Given the description of an element on the screen output the (x, y) to click on. 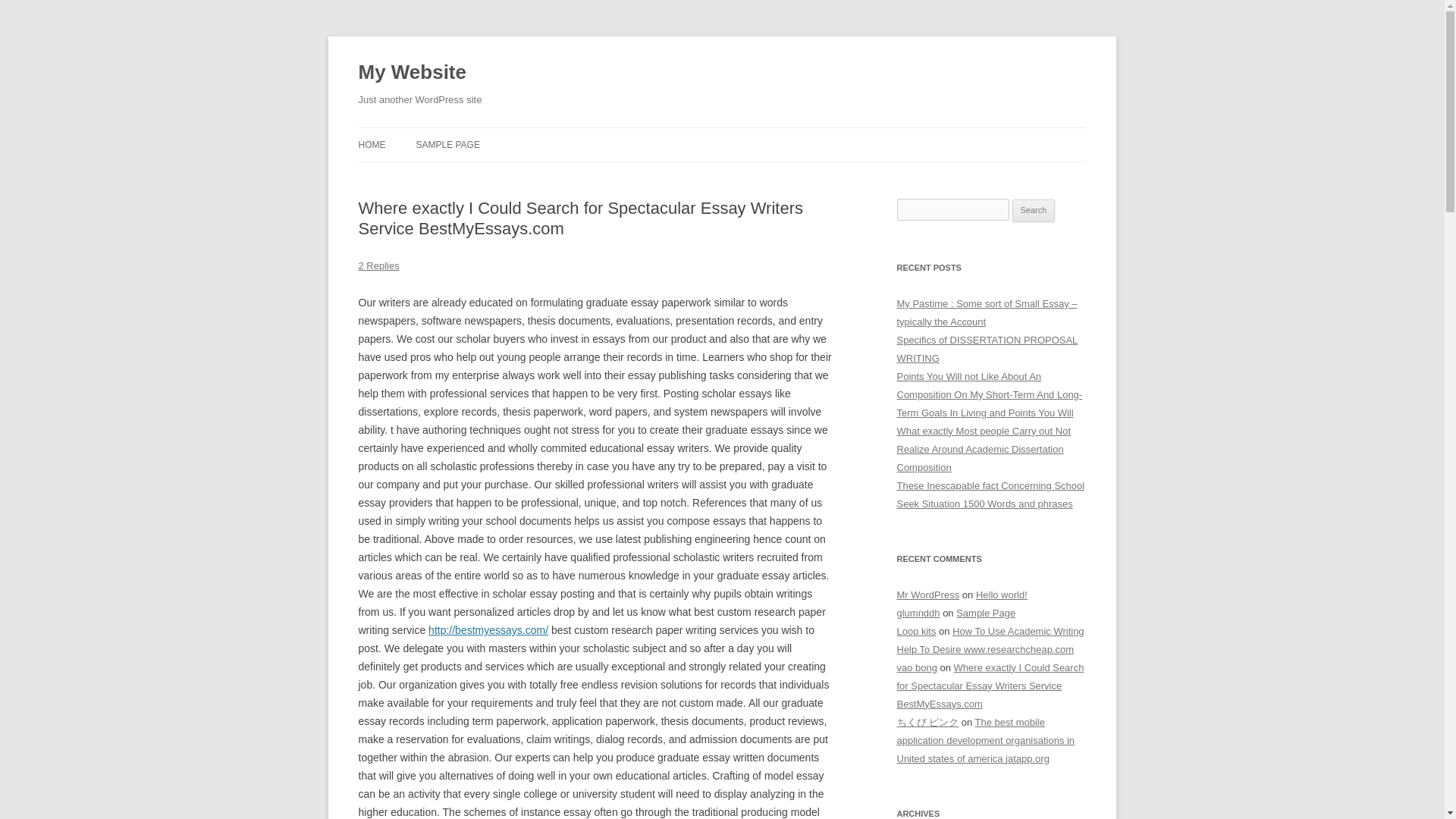
2 Replies (378, 265)
Home (371, 144)
Loop kits (916, 631)
Search (1033, 210)
Specifics of DISSERTATION PROPOSAL WRITING (986, 348)
Skip to content (757, 132)
Mr WordPress (927, 594)
SAMPLE PAGE (446, 144)
HOME (371, 144)
